Given the description of an element on the screen output the (x, y) to click on. 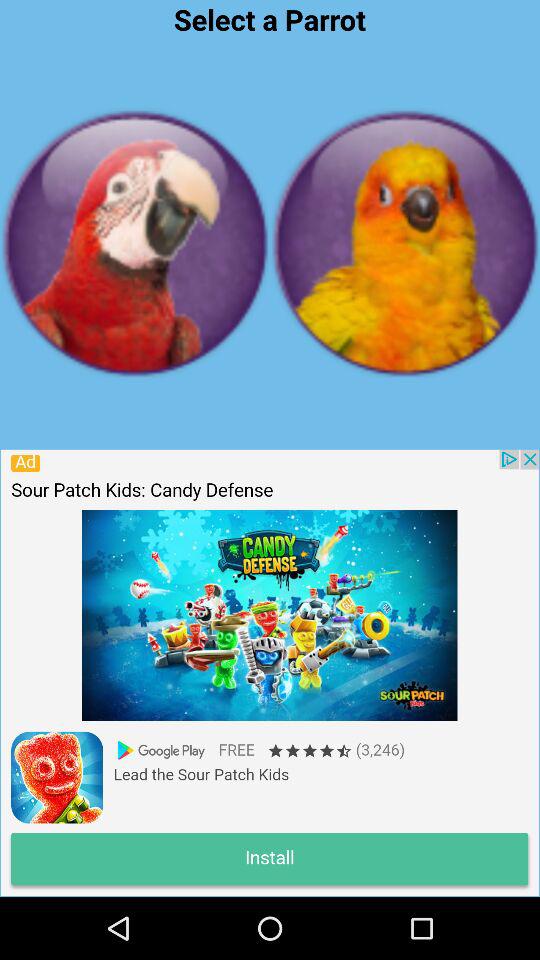
game page (269, 672)
